Given the description of an element on the screen output the (x, y) to click on. 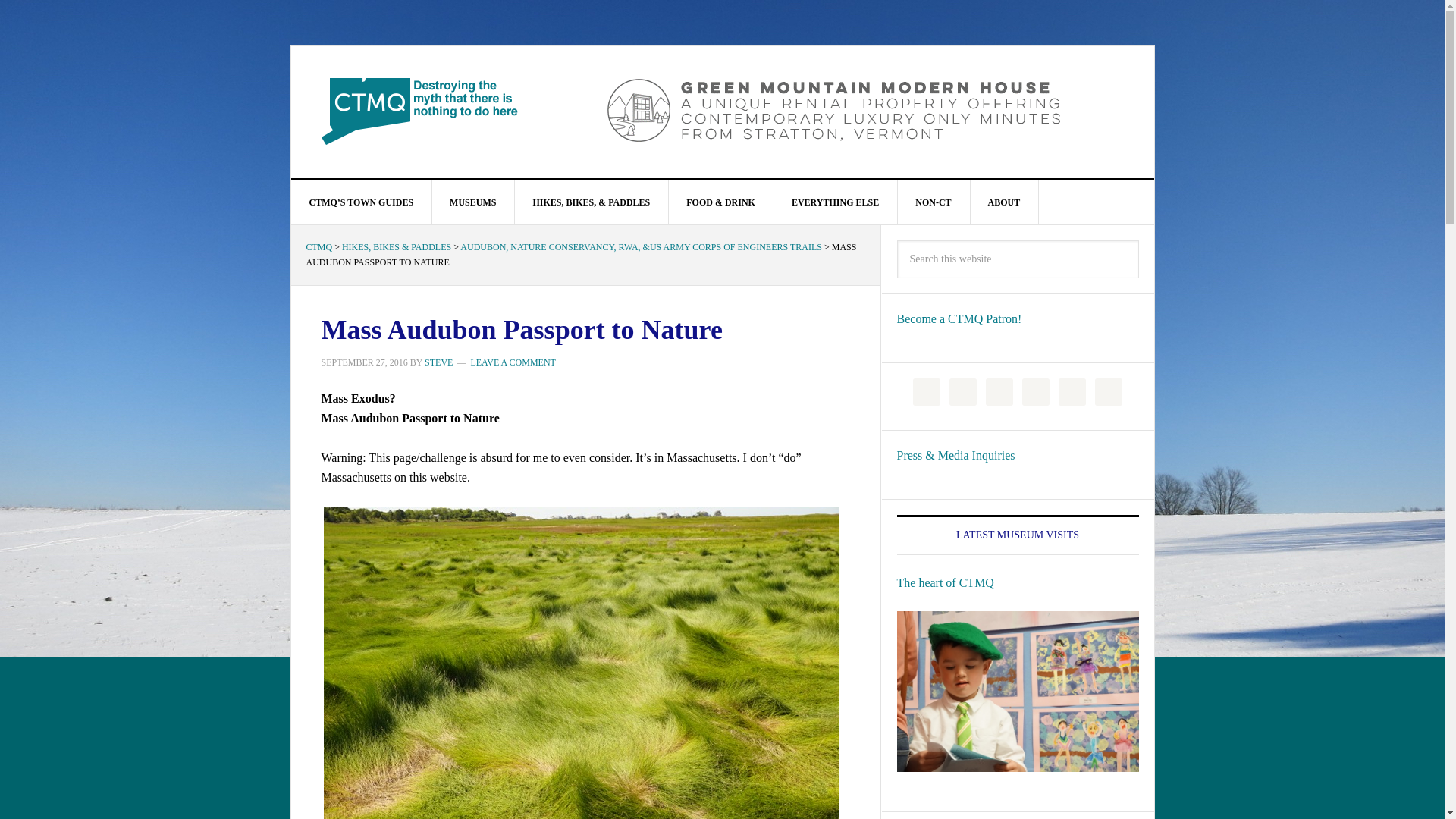
EVERYTHING ELSE (835, 202)
NON-CT (932, 202)
MUSEUMS (472, 202)
CTMQ (419, 110)
Go to CTMQ. (319, 246)
ABOUT (1004, 202)
